Given the description of an element on the screen output the (x, y) to click on. 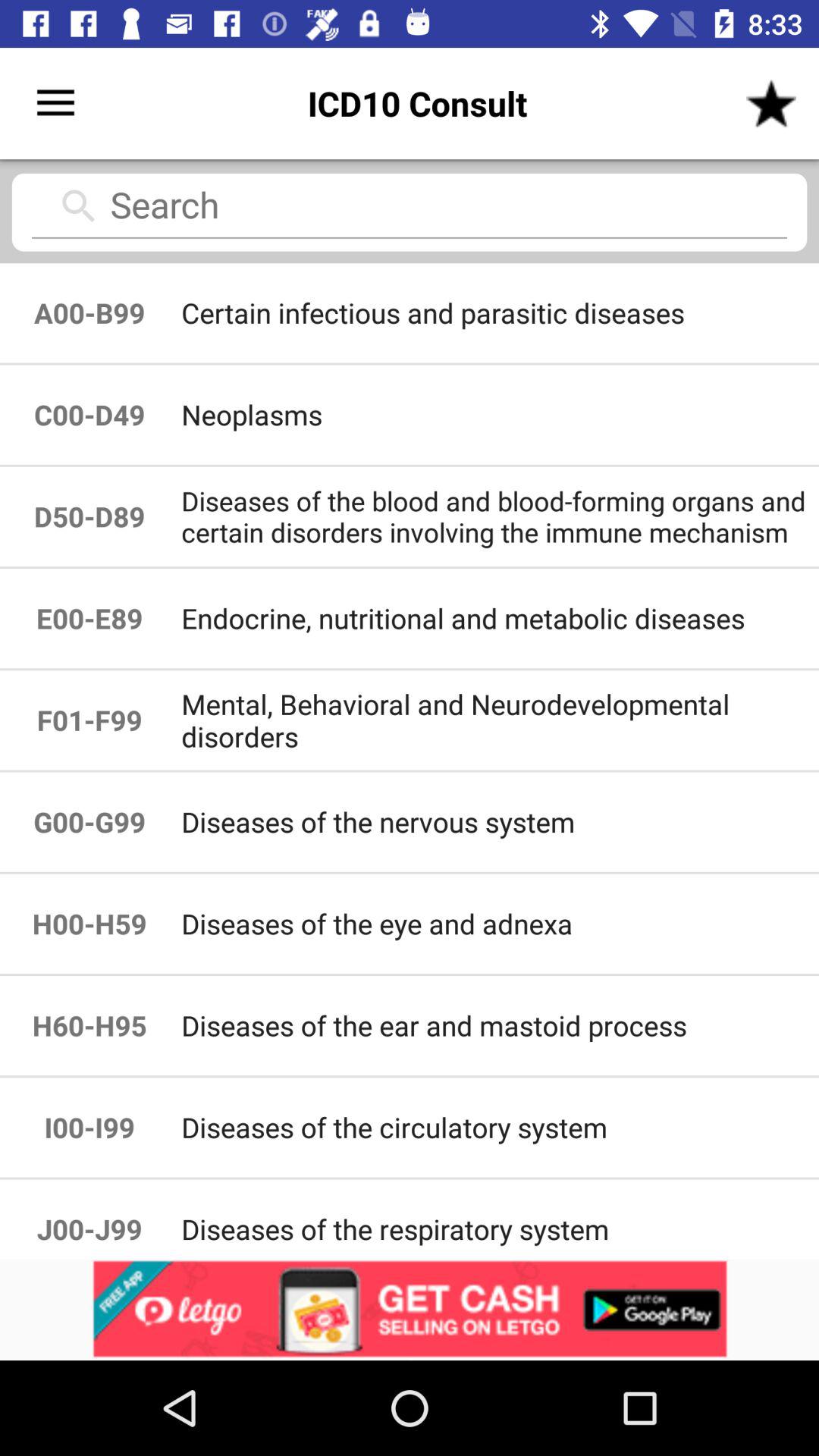
search the required topic (409, 211)
